Given the description of an element on the screen output the (x, y) to click on. 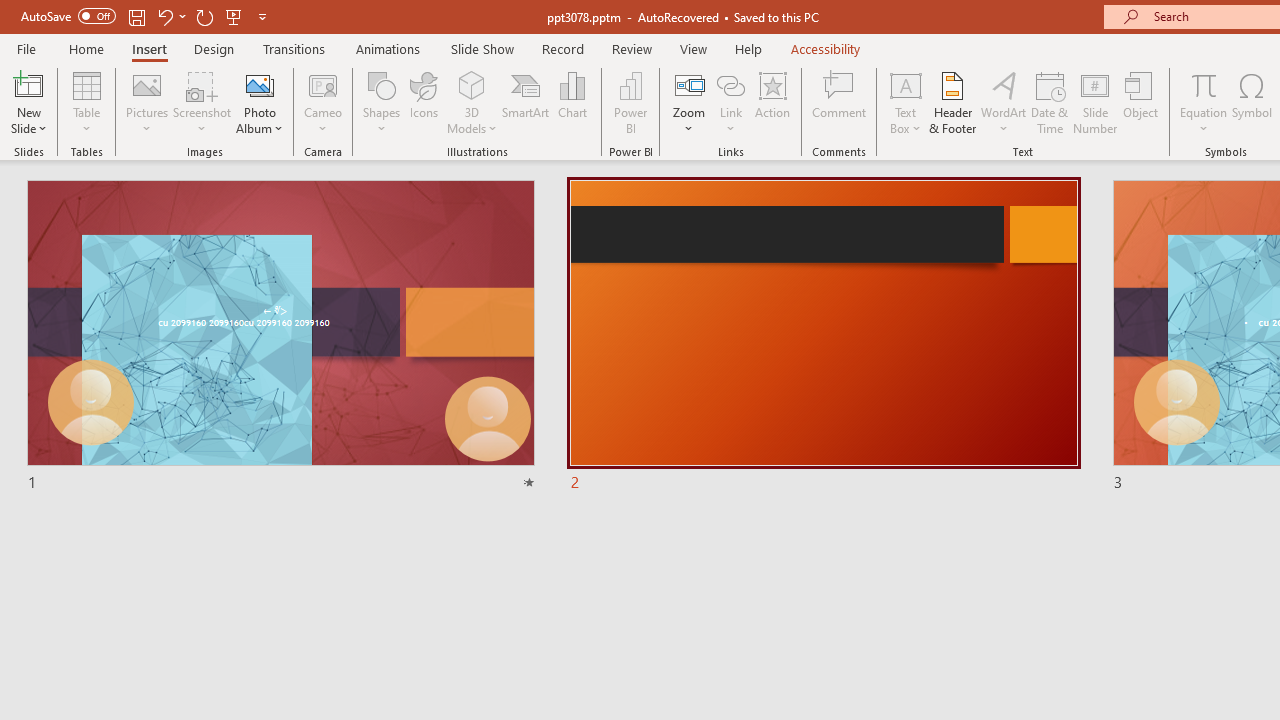
Draw Horizontal Text Box (905, 84)
Power BI (630, 102)
Action (772, 102)
